Given the description of an element on the screen output the (x, y) to click on. 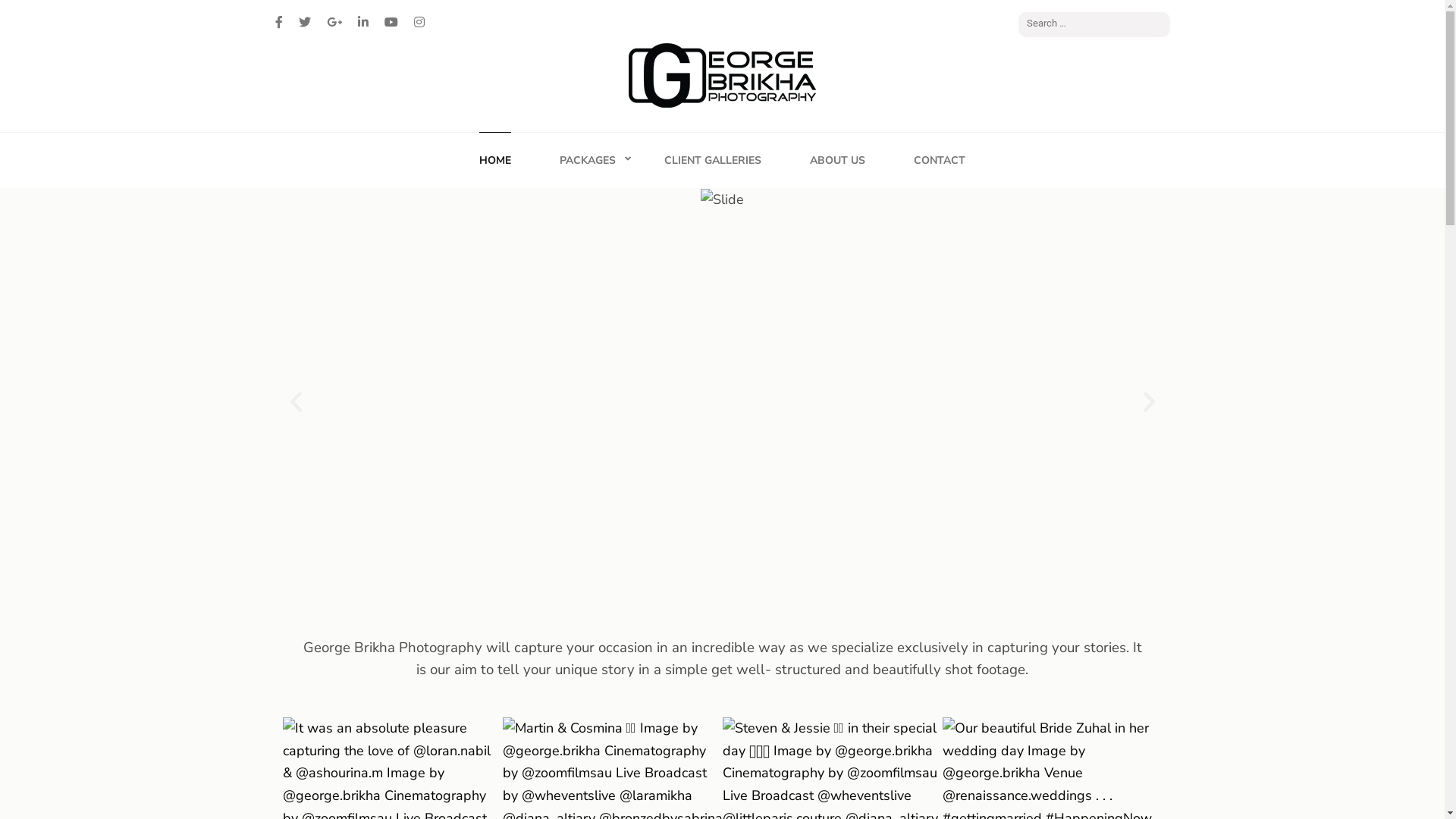
CLIENT GALLERIES Element type: text (712, 159)
LinkedIn Element type: hover (362, 22)
YouTube Element type: hover (390, 22)
Instagram Element type: hover (419, 22)
HOME Element type: text (495, 159)
Twitter Element type: hover (304, 22)
ABOUT US Element type: text (837, 159)
Facebook Element type: hover (278, 22)
CONTACT Element type: text (939, 159)
Google Plus Element type: hover (333, 22)
PACKAGES Element type: text (587, 159)
George Brikha Photography Element type: text (504, 132)
Search Element type: text (1158, 24)
